Given the description of an element on the screen output the (x, y) to click on. 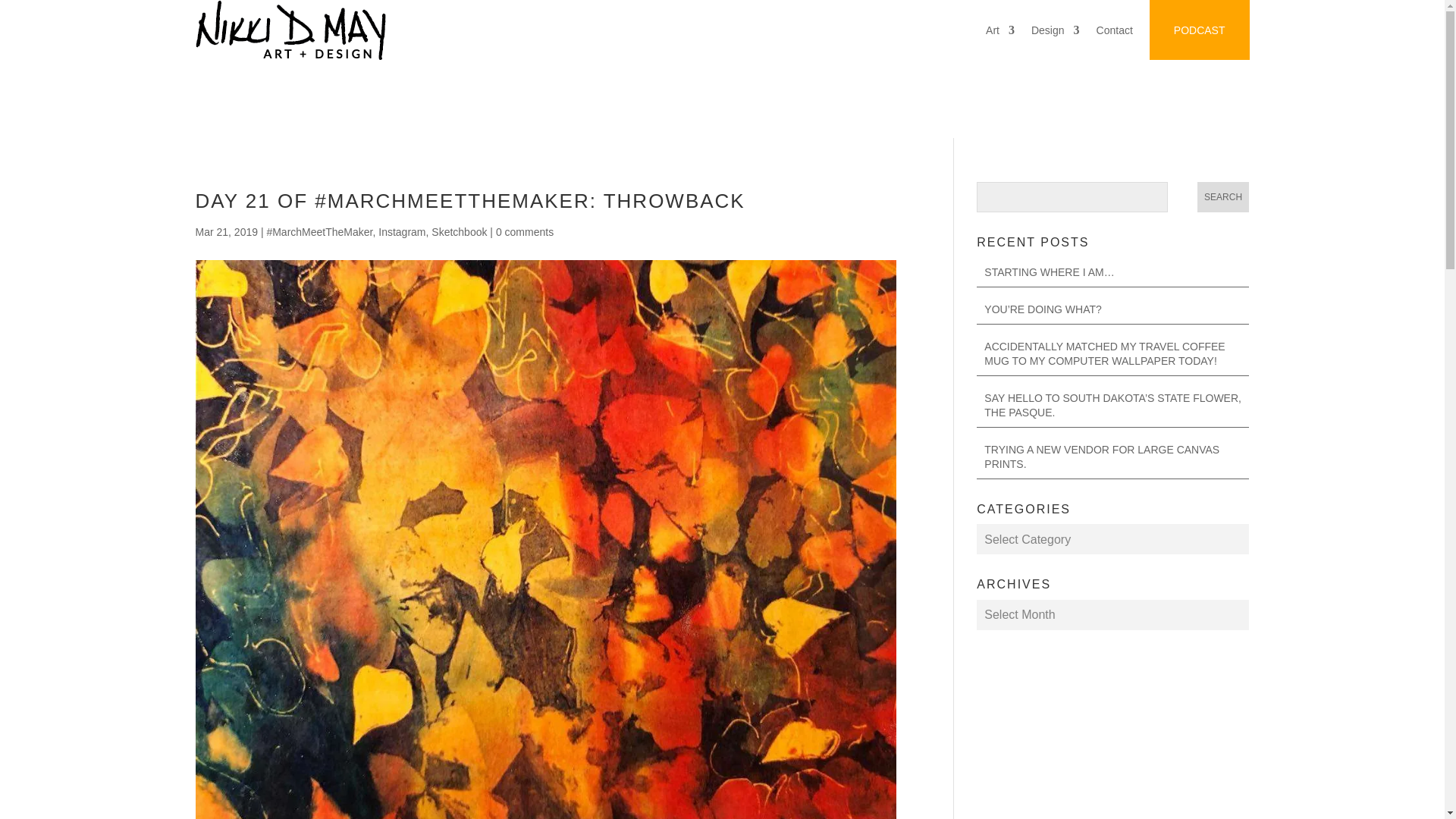
Search (1222, 196)
Sketchbook (458, 232)
TRYING A NEW VENDOR FOR LARGE CANVAS PRINTS. (1102, 456)
Search (1222, 196)
PODCAST (1199, 29)
Instagram (401, 232)
0 comments (524, 232)
